Given the description of an element on the screen output the (x, y) to click on. 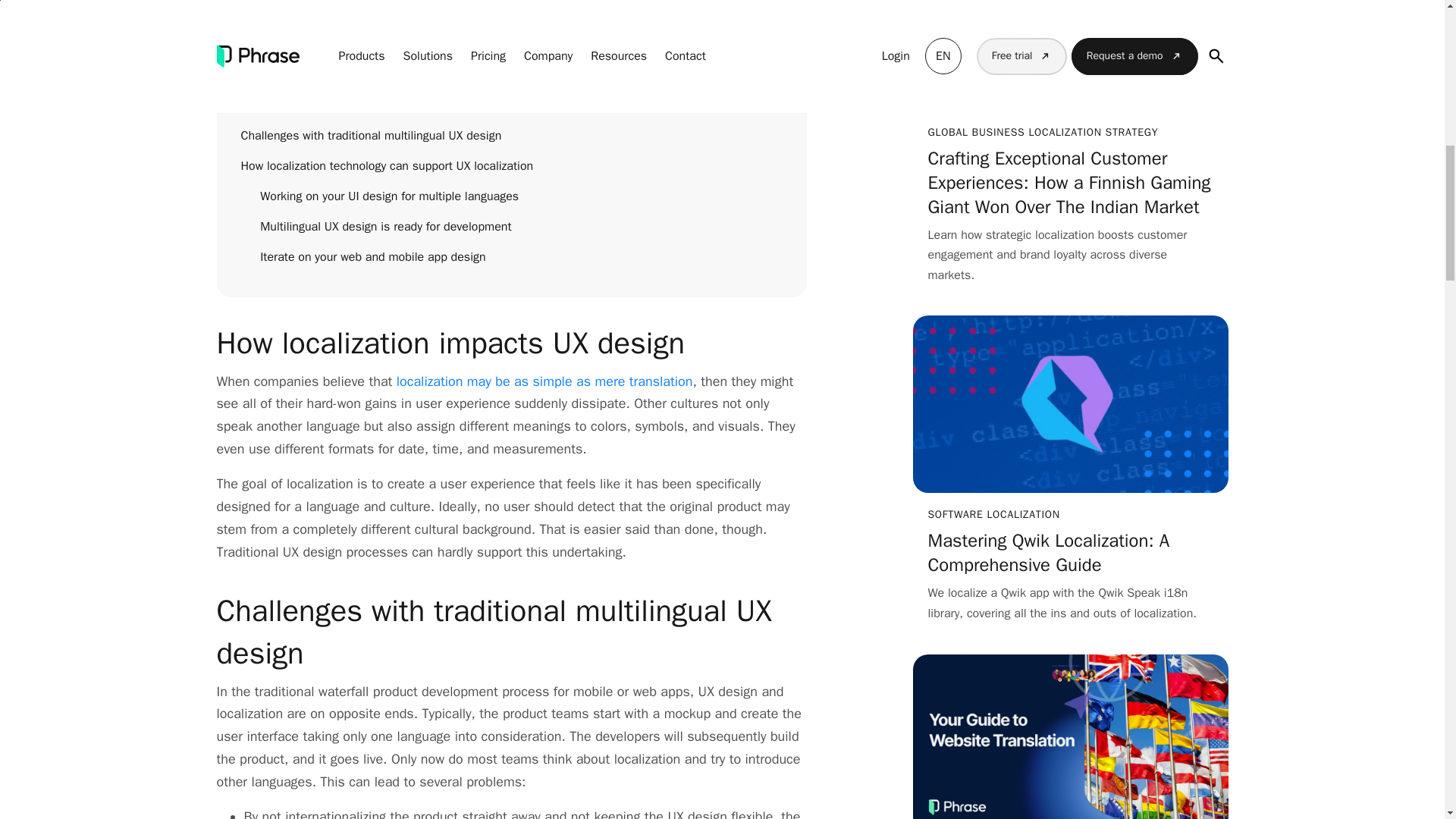
Challenges with traditional multilingual UX design (512, 135)
Multilingual UX design is ready for development (520, 226)
Working on your UI design for multiple languages (520, 196)
Iterate on your web and mobile app design (520, 257)
How localization impacts UX design (512, 105)
How localization technology can support UX localization (512, 166)
